Given the description of an element on the screen output the (x, y) to click on. 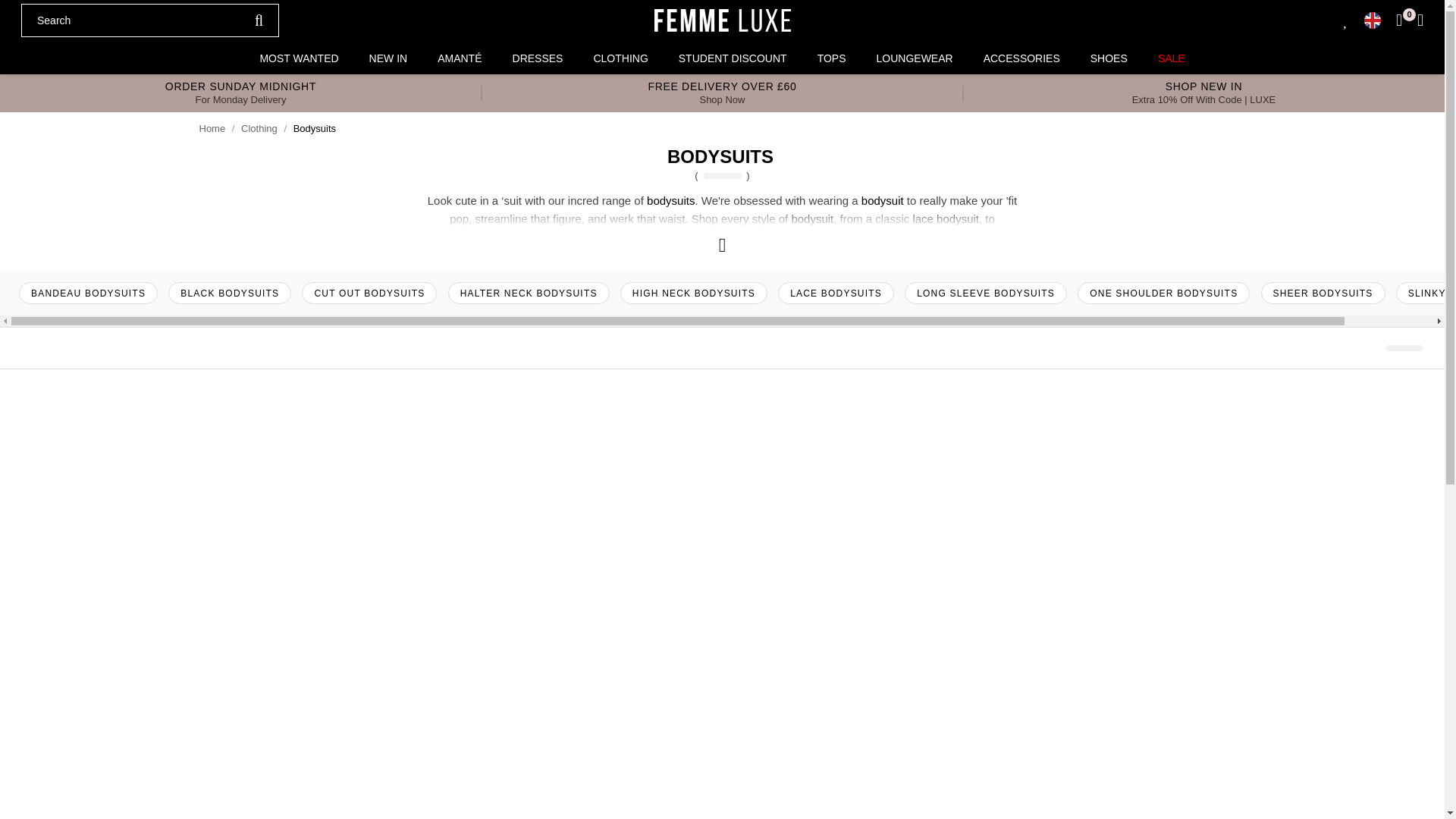
DRESSES (537, 57)
MOST WANTED (298, 57)
Clothing (259, 128)
Home (211, 128)
NEW IN (388, 57)
submit (259, 20)
Femme Luxe (721, 20)
